Given the description of an element on the screen output the (x, y) to click on. 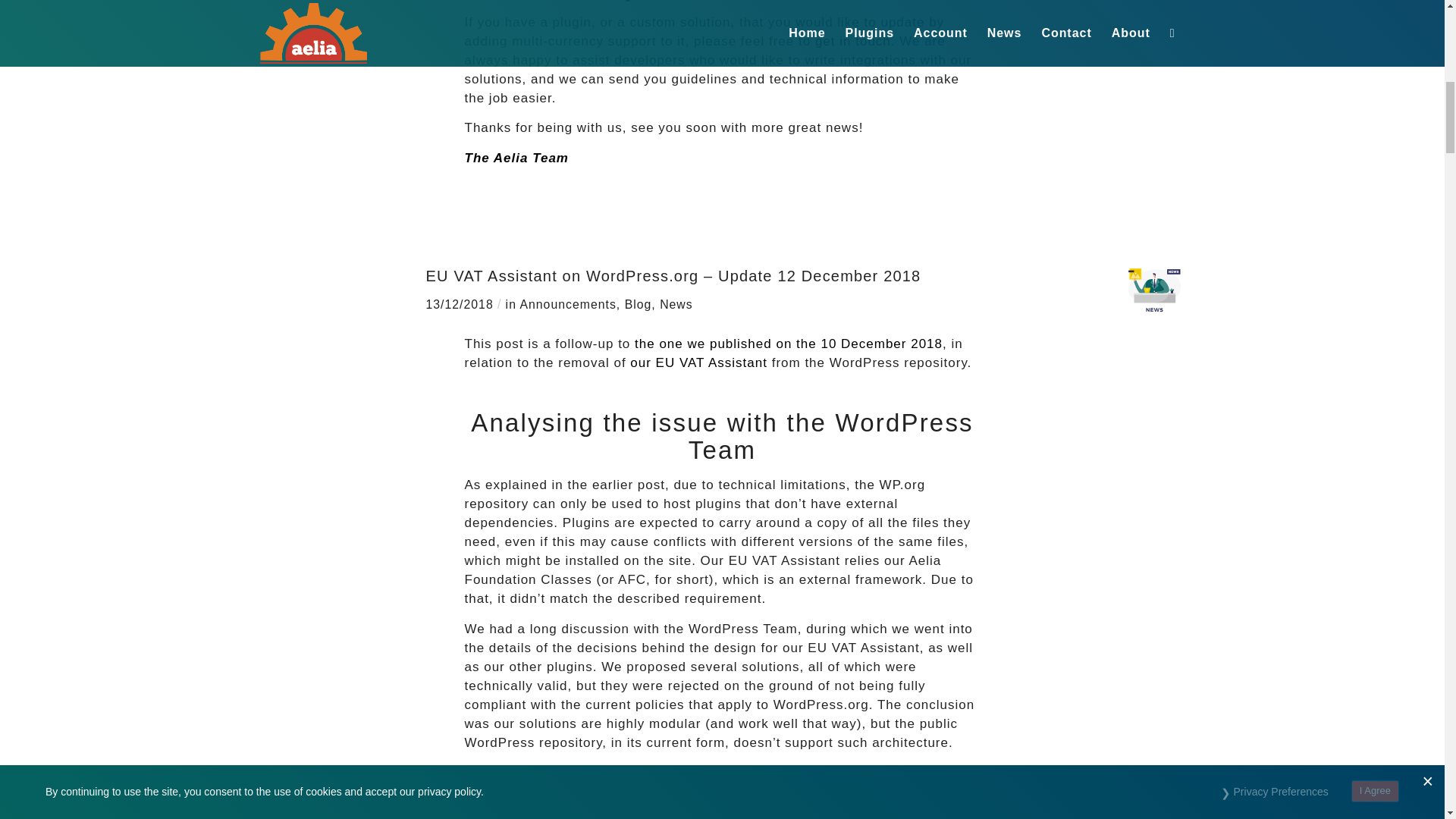
Announcements (567, 304)
our EU VAT Assistant (698, 362)
Blog (638, 304)
News (676, 304)
get in touch (853, 41)
the one we published on the 10 December 2018 (788, 343)
